Given the description of an element on the screen output the (x, y) to click on. 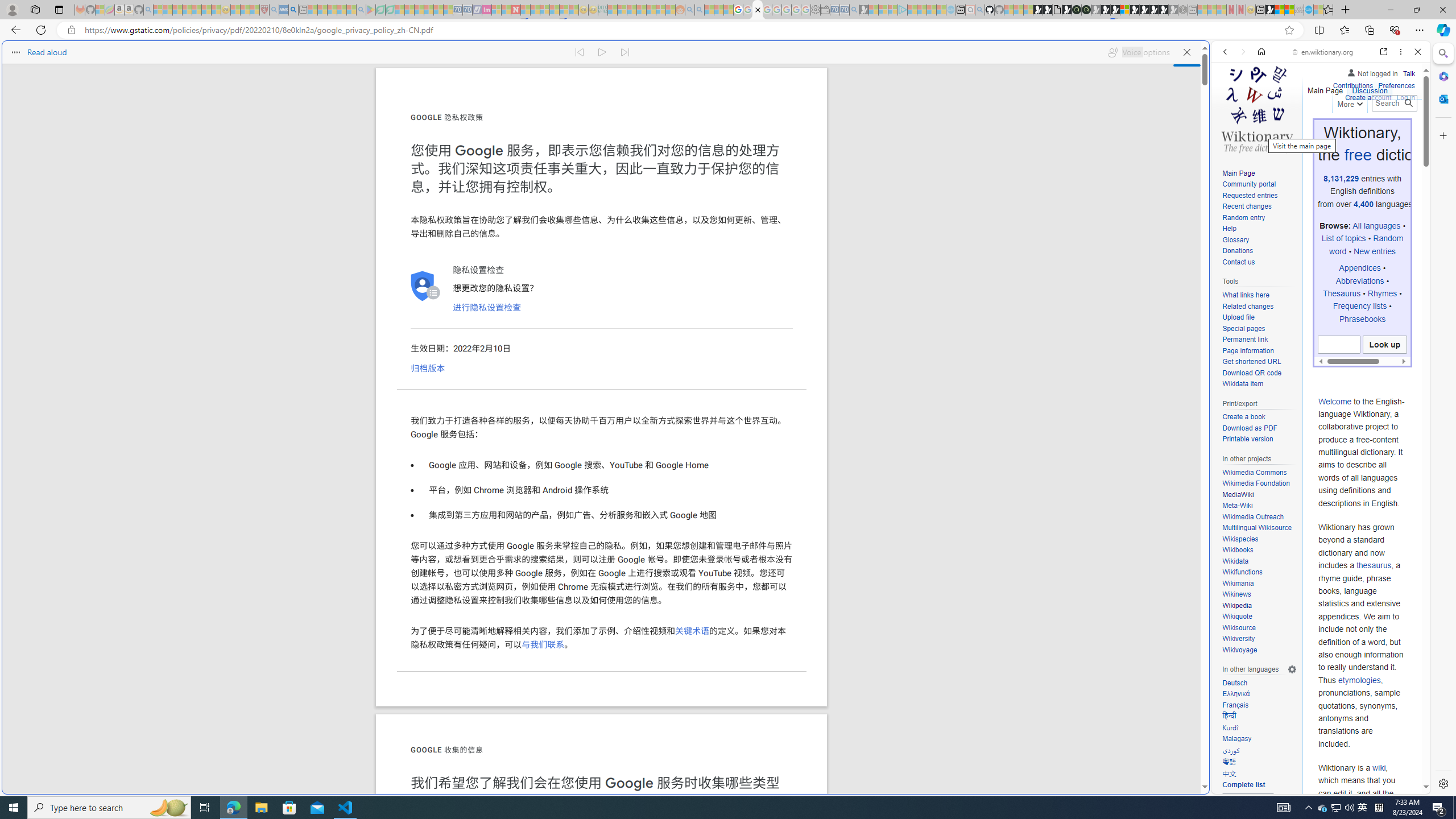
Wikispecies (1239, 538)
Contributions (1352, 85)
Wikimania (1237, 583)
Wikisource (1238, 627)
Donations (1259, 251)
